Given the description of an element on the screen output the (x, y) to click on. 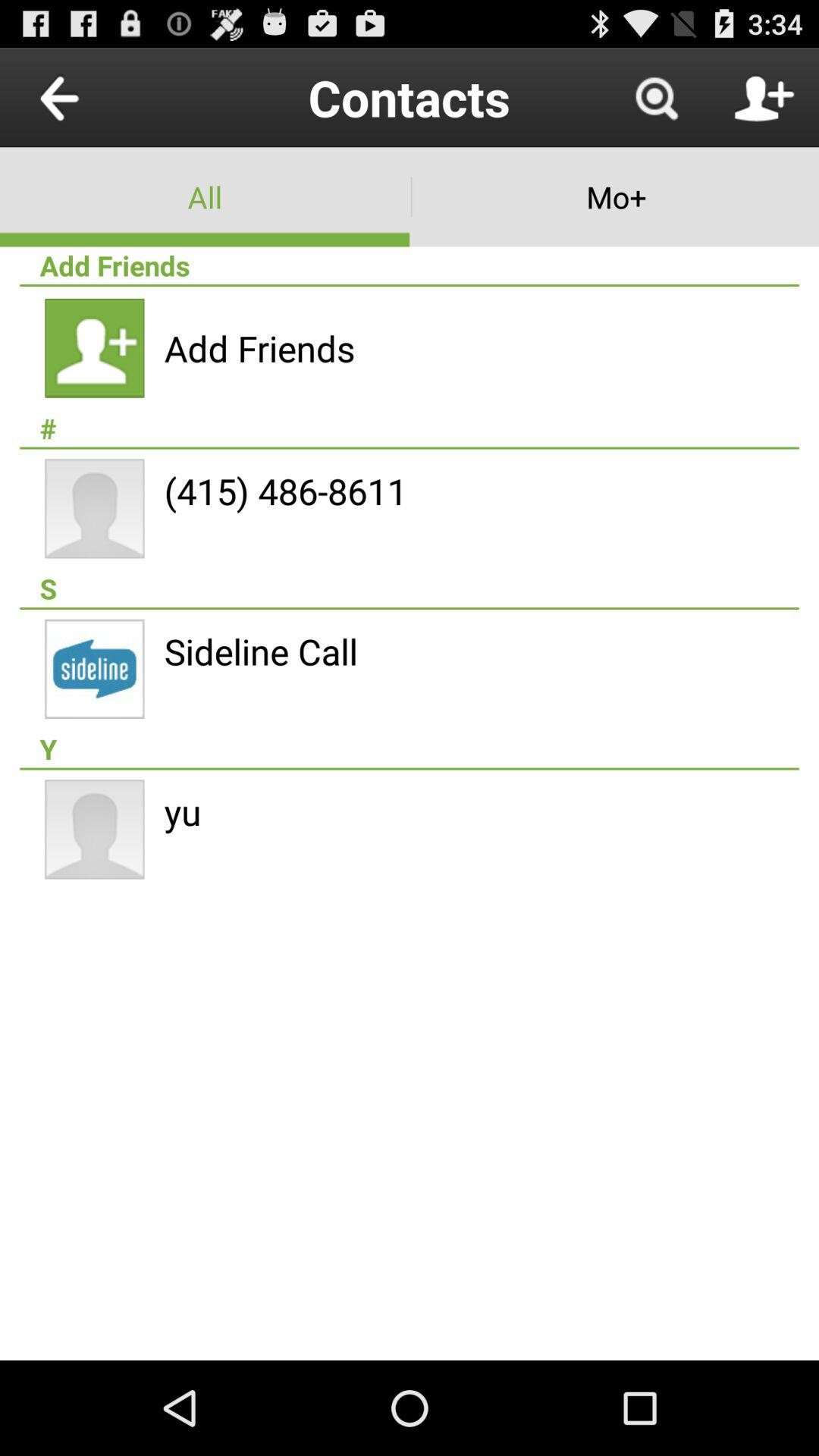
search for contacts (655, 97)
